Given the description of an element on the screen output the (x, y) to click on. 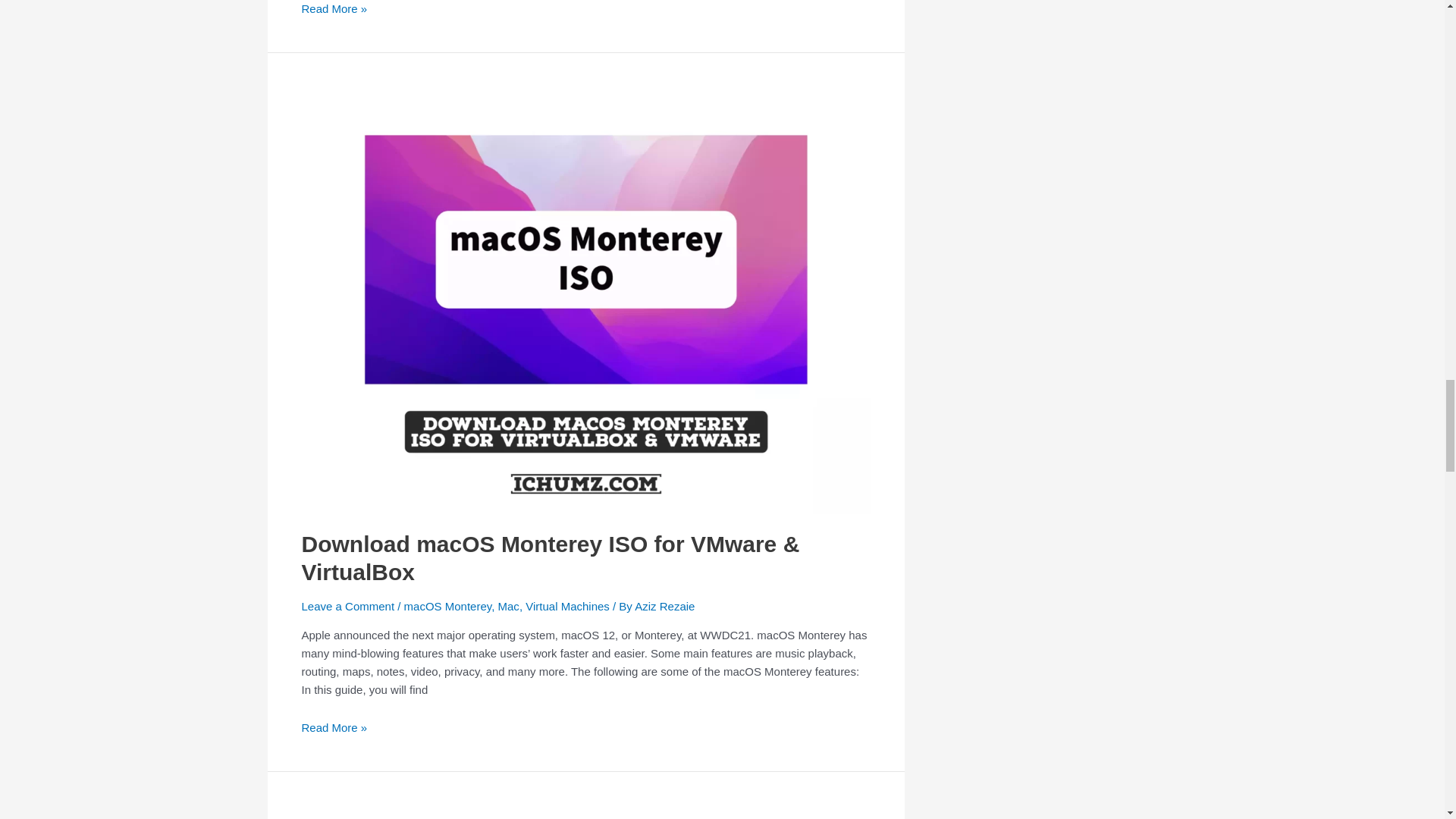
View all posts by Aziz Rezaie (664, 605)
